Given the description of an element on the screen output the (x, y) to click on. 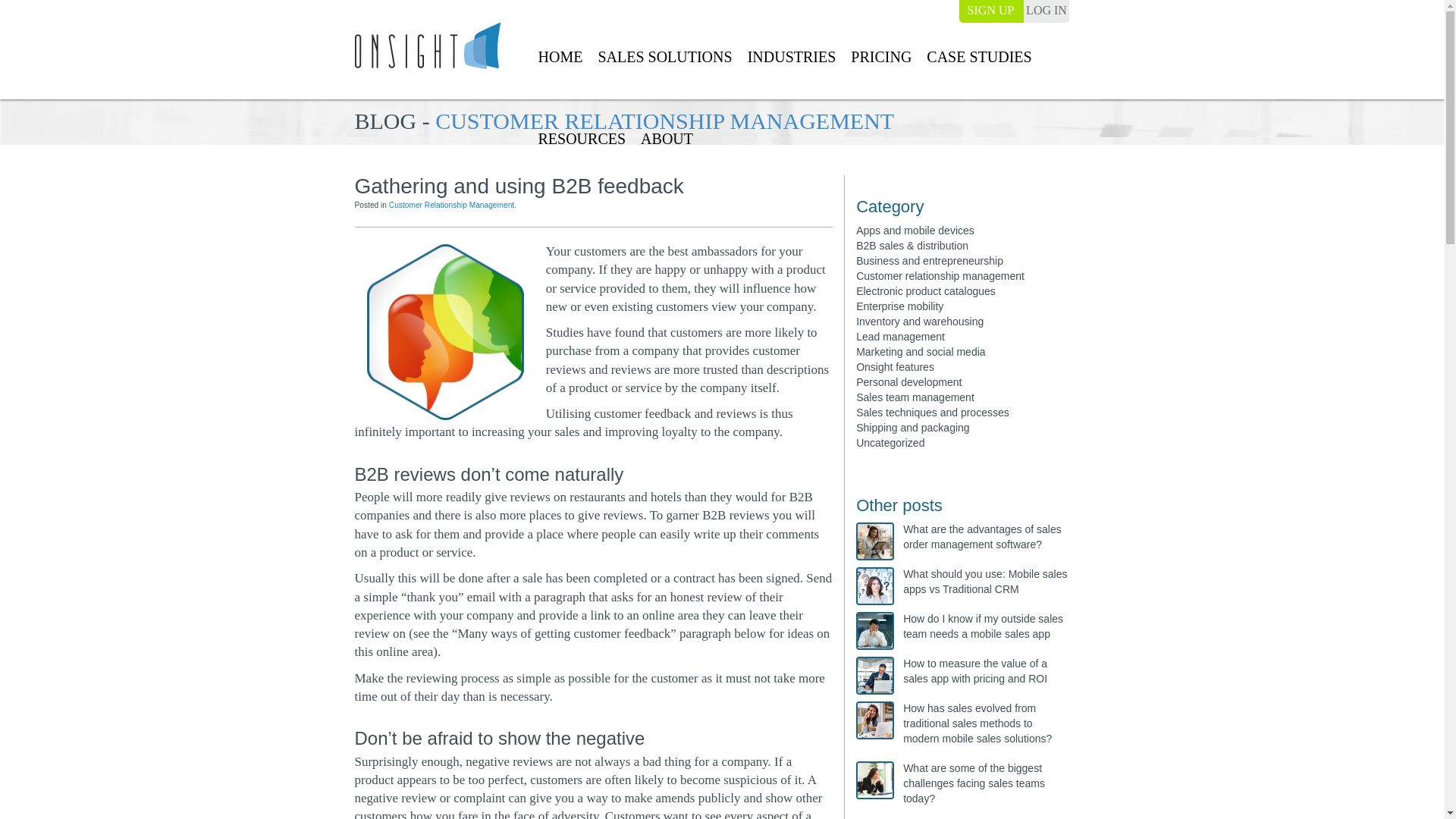
PRICING (881, 57)
LOG IN (1045, 11)
CASE STUDIES (979, 57)
SALES SOLUTIONS (664, 57)
ABOUT (667, 139)
SIGN UP (990, 11)
INDUSTRIES (792, 57)
RESOURCES (581, 139)
HOME (560, 57)
Onsight (427, 45)
